Given the description of an element on the screen output the (x, y) to click on. 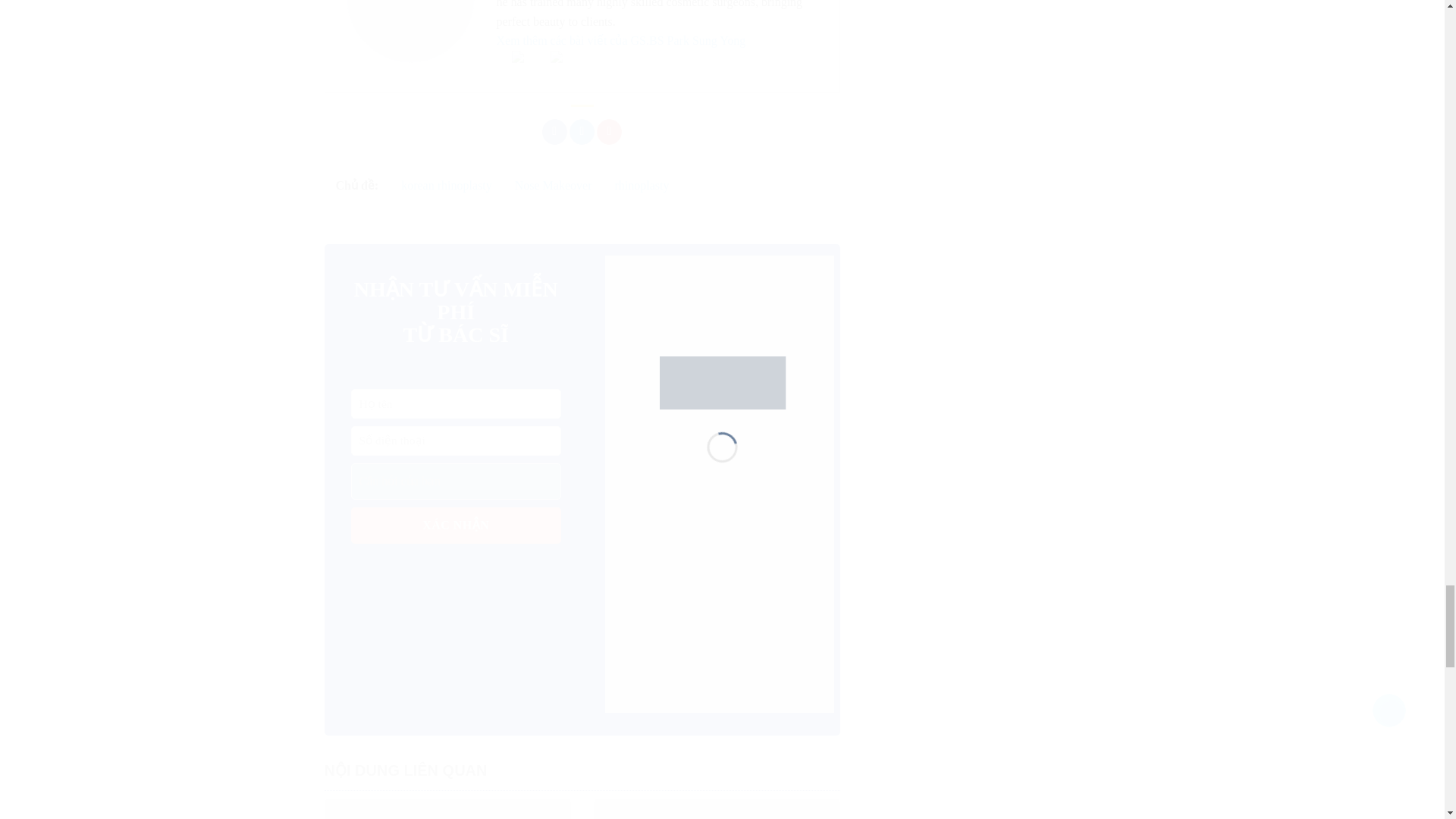
Share on Facebook (554, 131)
Share on Twitter (581, 131)
Pin on Pinterest (608, 131)
